Given the description of an element on the screen output the (x, y) to click on. 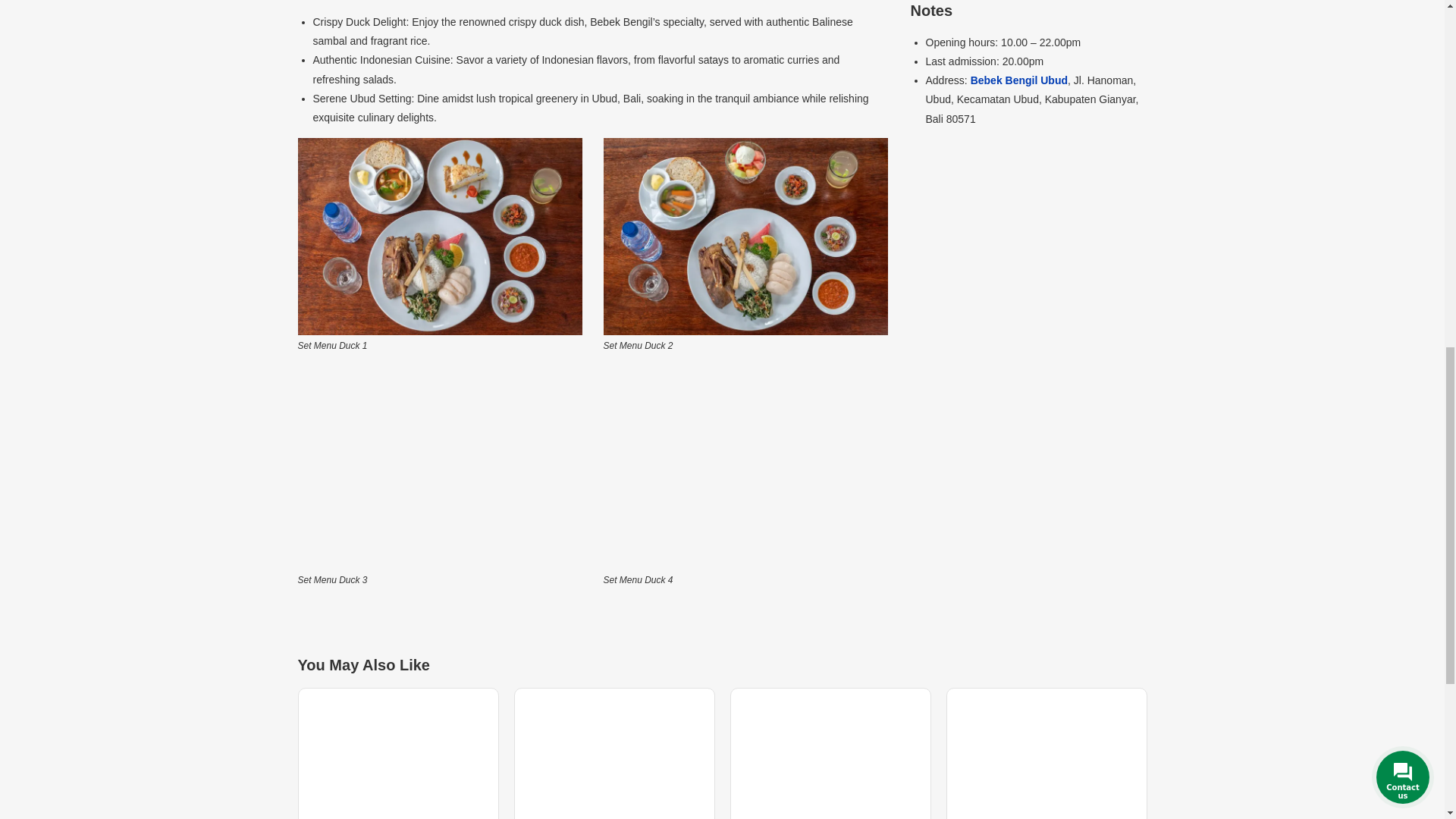
Bali Made Tour (746, 236)
Bali Made Tour (438, 470)
Bali Made Tour (438, 236)
Bali Made Tour (746, 470)
Bebek Bengil Ubud (1019, 80)
